Given the description of an element on the screen output the (x, y) to click on. 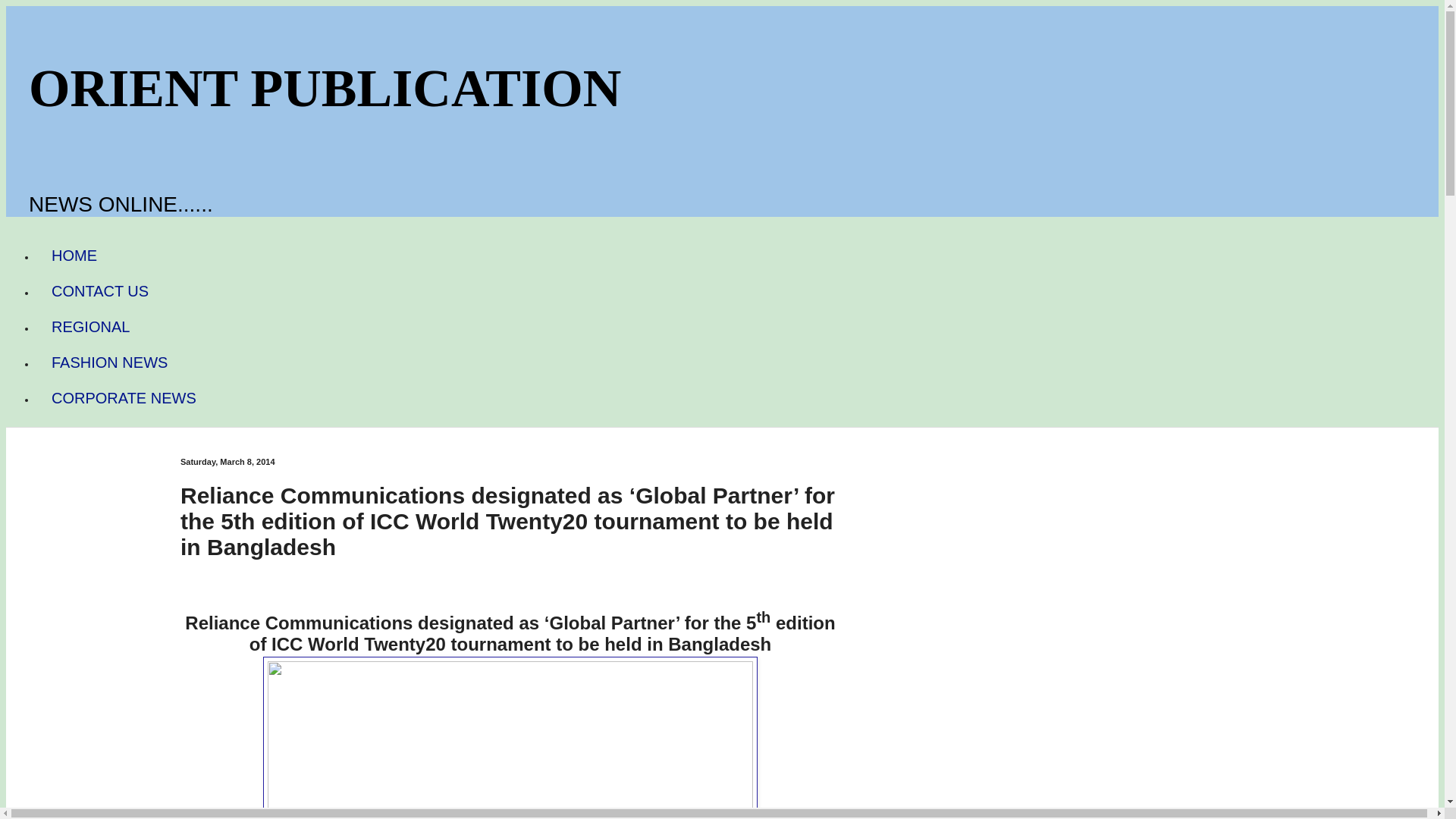
REGIONAL (90, 326)
FASHION NEWS (109, 362)
ORIENT PUBLICATION (325, 87)
CORPORATE NEWS (123, 398)
CONTACT US (99, 291)
HOME (74, 255)
